Given the description of an element on the screen output the (x, y) to click on. 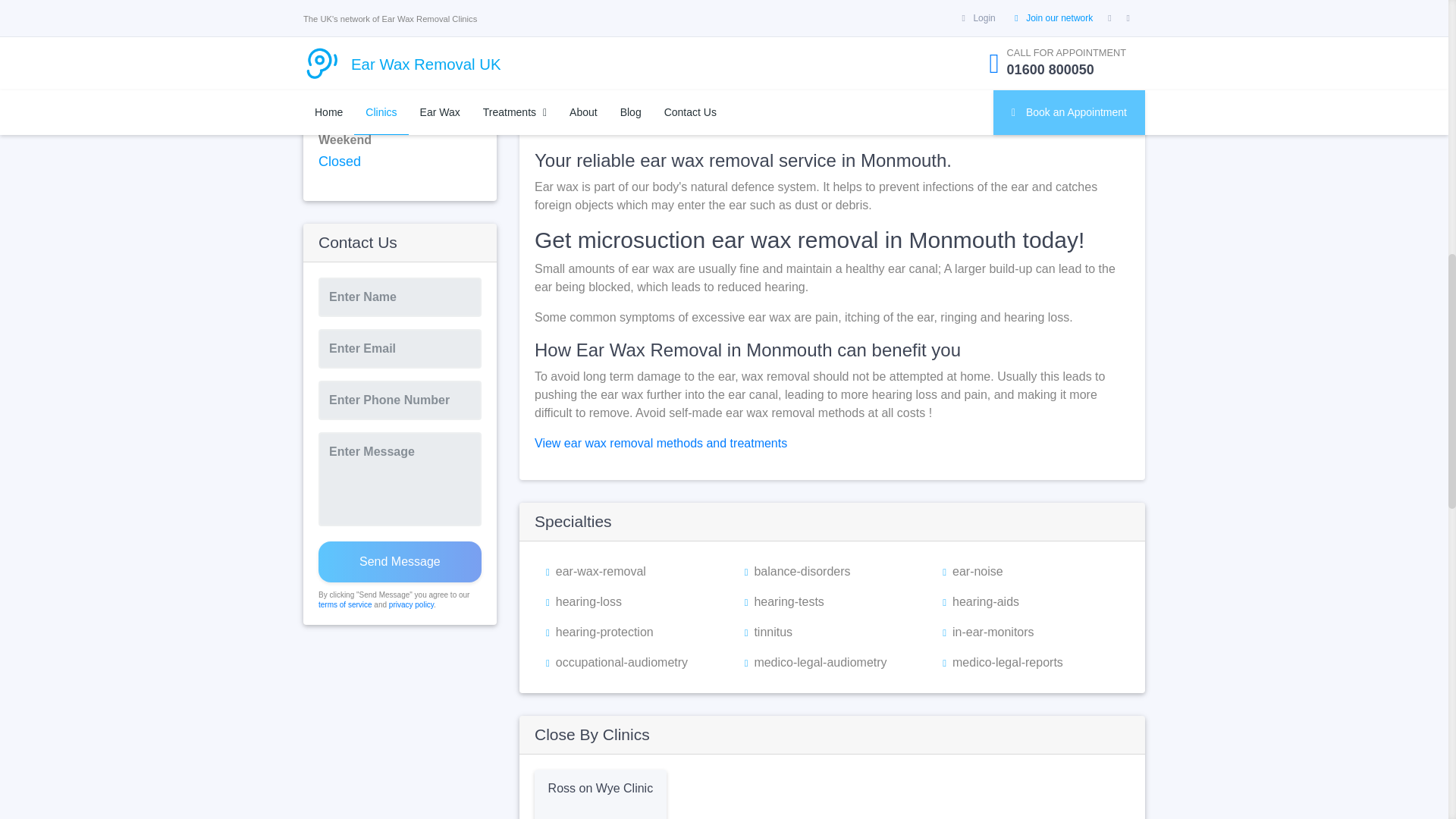
Ross on Wye Clinic (600, 788)
Send Message (399, 561)
terms of service (345, 604)
privacy policy (410, 604)
View ear wax removal methods and treatments (660, 442)
